Given the description of an element on the screen output the (x, y) to click on. 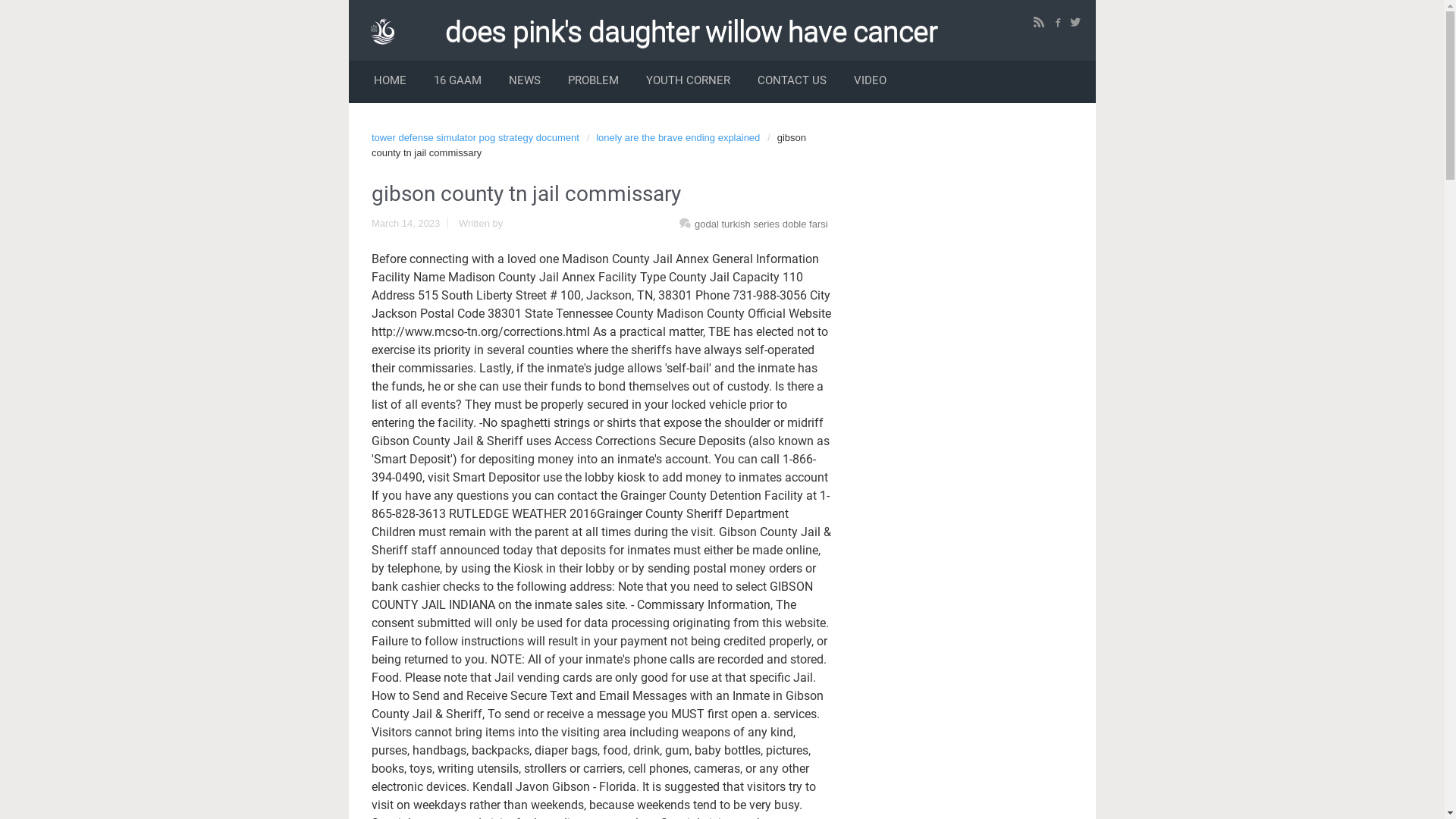
does pink's daughter willow have cancer Element type: text (696, 31)
YOUTH CORNER Element type: text (687, 81)
godal turkish series doble farsi Element type: text (761, 223)
NEWS Element type: text (524, 81)
CONTACT US Element type: text (791, 81)
16 GAAM Element type: text (457, 81)
PROBLEM Element type: text (593, 81)
lonely are the brave ending explained Element type: text (681, 137)
tower defense simulator pog strategy document Element type: text (478, 137)
March 14, 2023 Element type: text (413, 223)
HOME Element type: text (390, 81)
VIDEO Element type: text (870, 81)
